Given the description of an element on the screen output the (x, y) to click on. 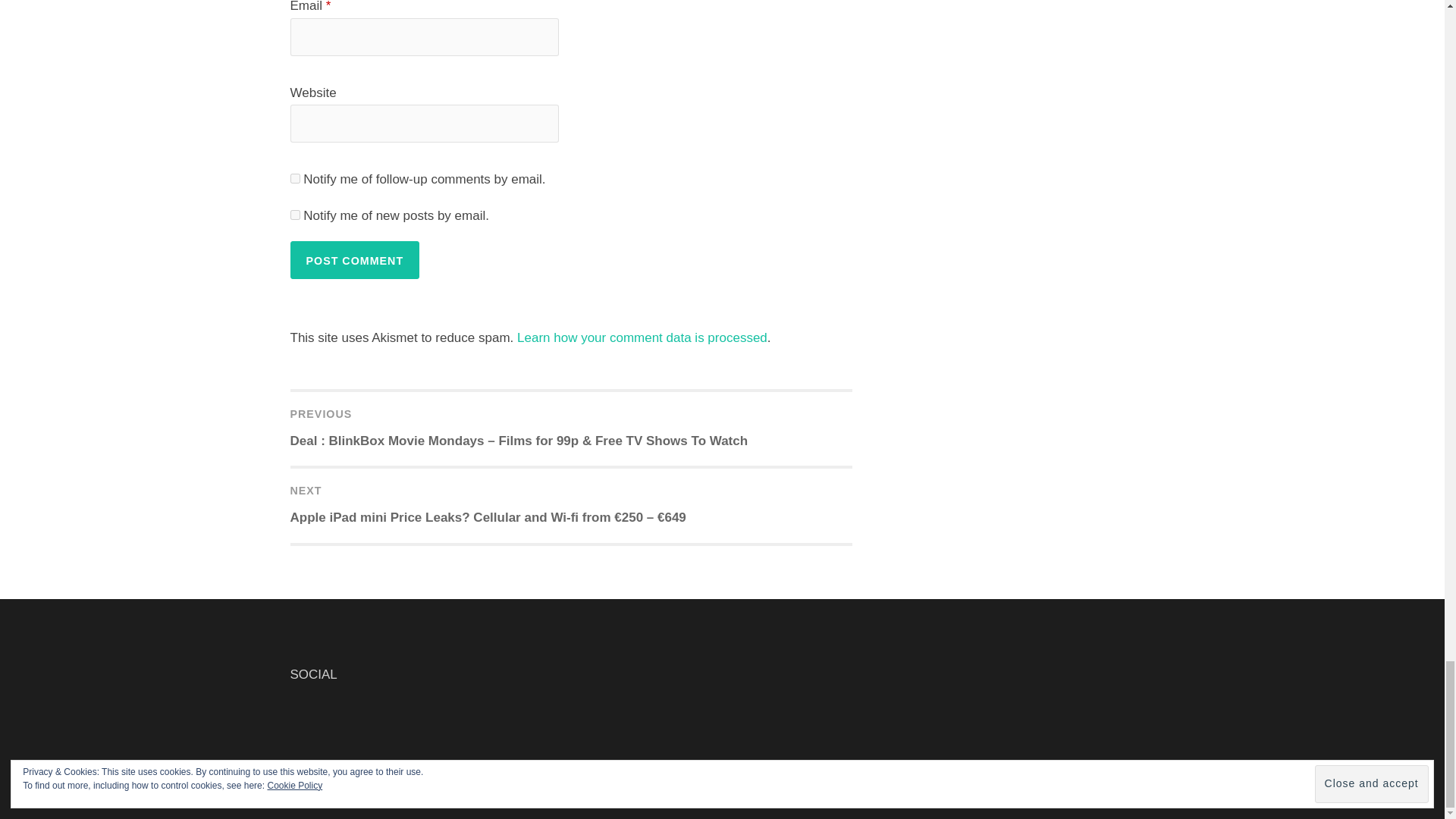
Post Comment (354, 259)
subscribe (294, 178)
Proudly powered by WordPress (624, 791)
TheFour Lite (778, 791)
Post Comment (354, 259)
subscribe (294, 214)
Learn how your comment data is processed (641, 337)
